Given the description of an element on the screen output the (x, y) to click on. 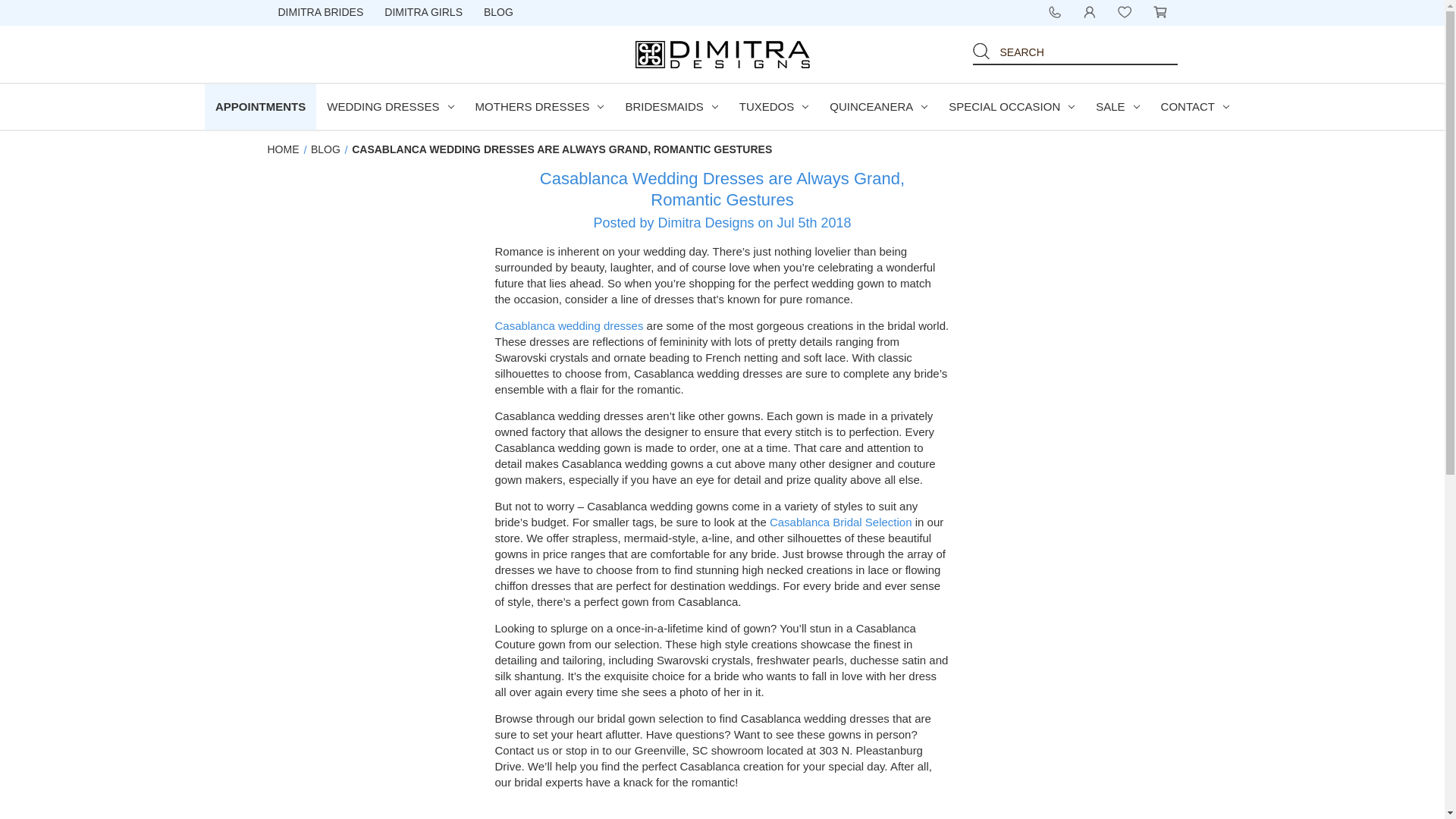
WEDDING DRESSES (389, 106)
DIMITRA BRIDES (320, 12)
DIMITRA DESIGNS (721, 53)
BLOG (498, 12)
APPOINTMENTS (260, 106)
DIMITRA GIRLS (423, 12)
